Given the description of an element on the screen output the (x, y) to click on. 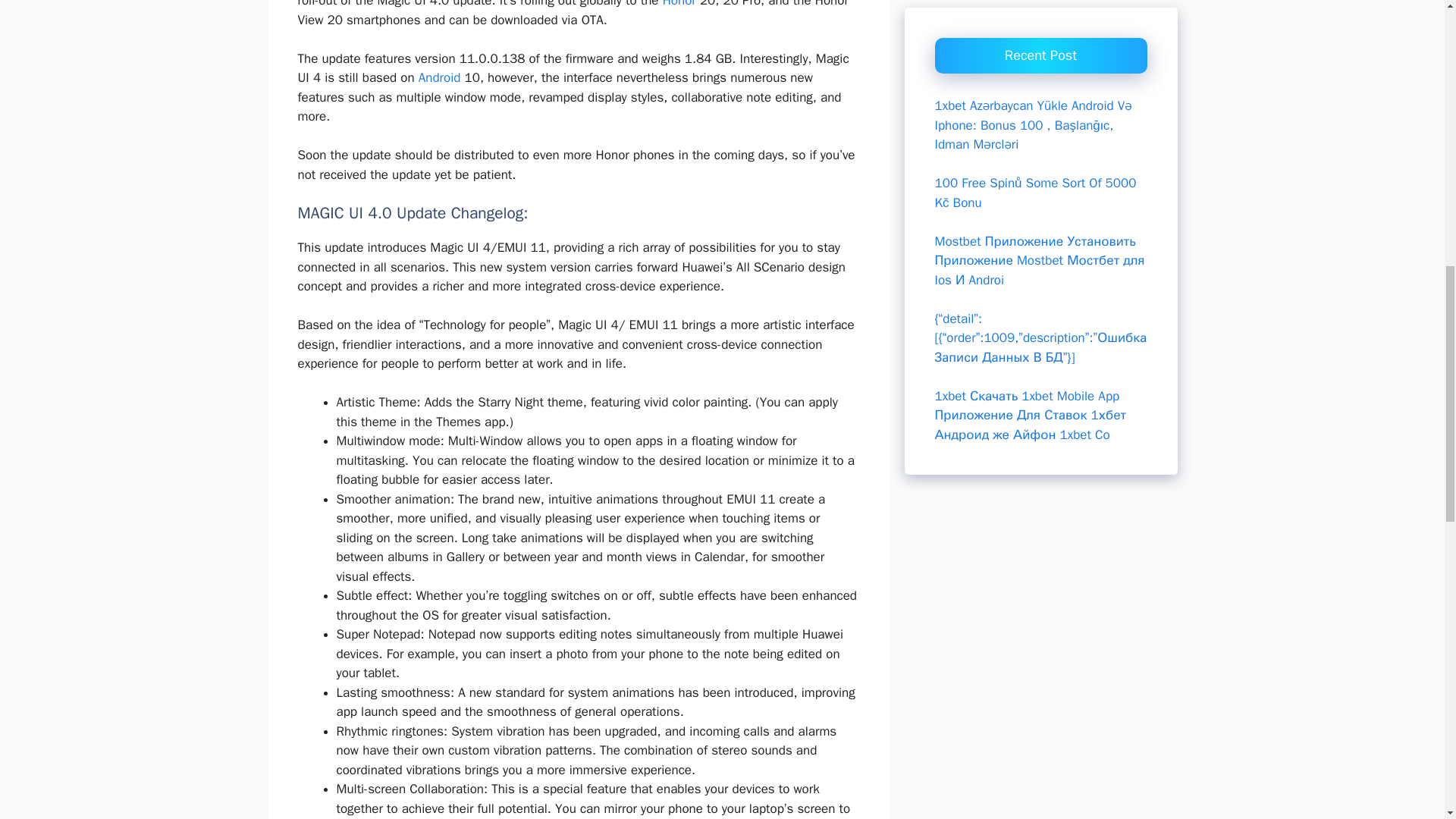
Android (440, 77)
Honor (678, 4)
